Given the description of an element on the screen output the (x, y) to click on. 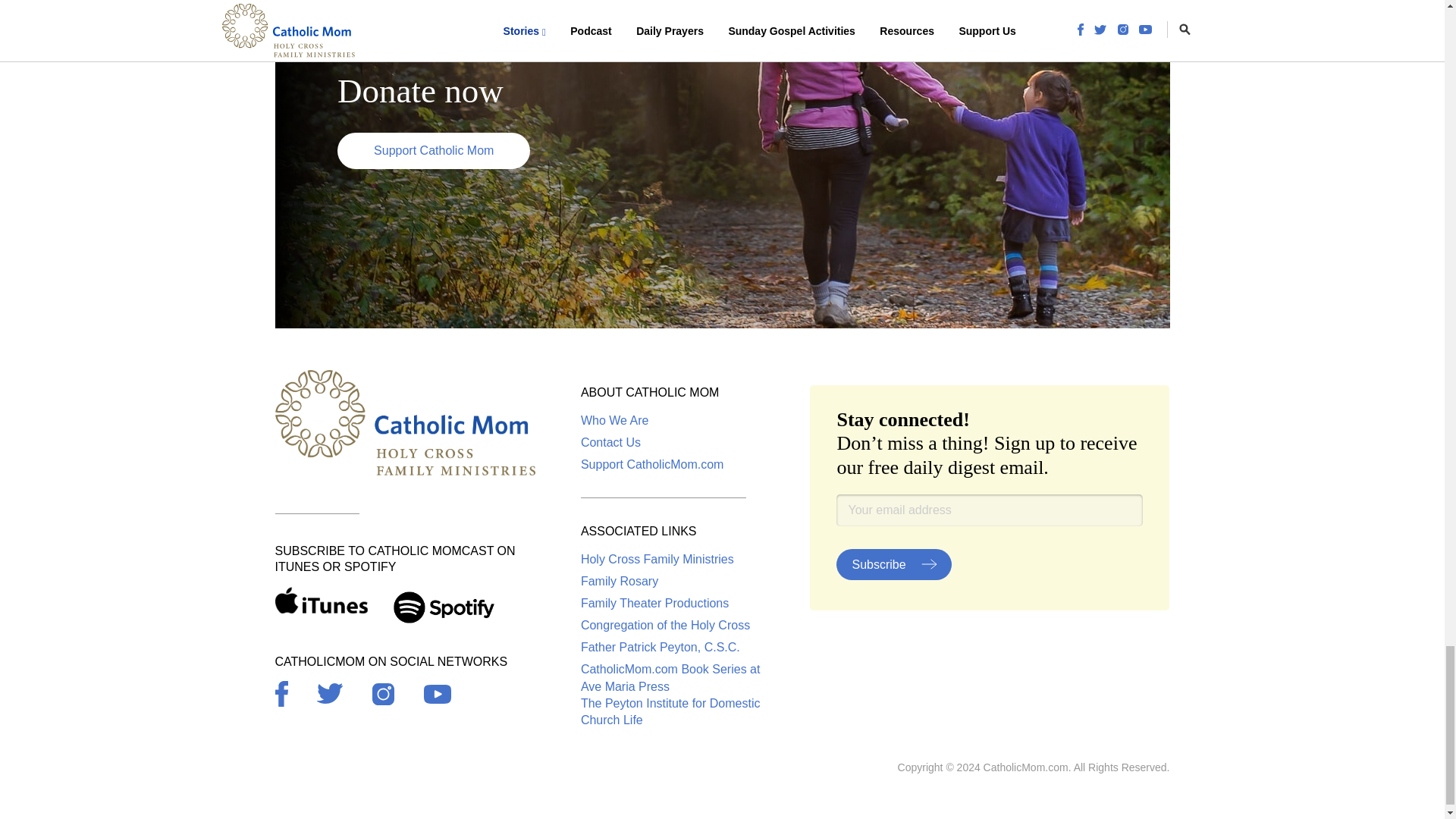
Support Catholic Mom (433, 150)
Subscribe (892, 563)
